Given the description of an element on the screen output the (x, y) to click on. 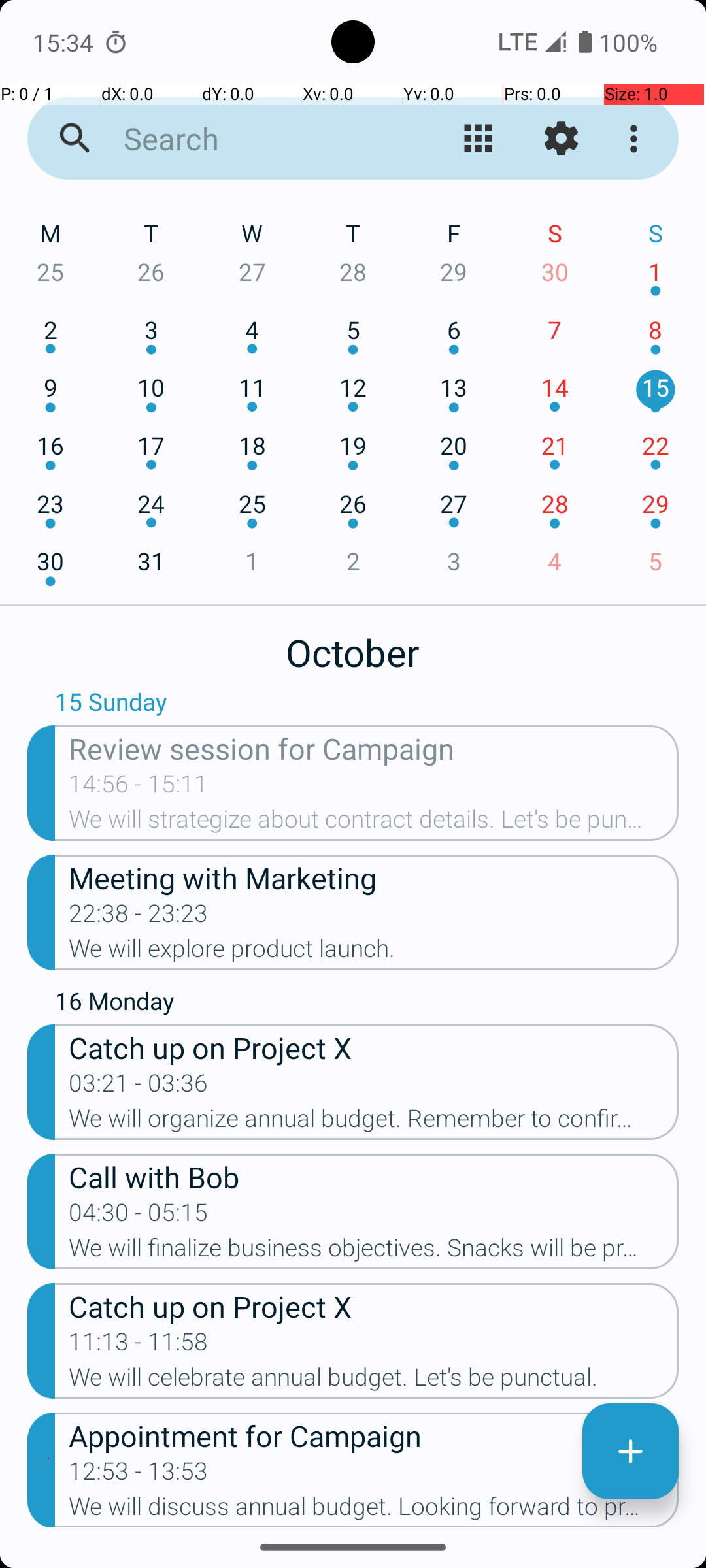
14:56 - 15:11 Element type: android.widget.TextView (137, 787)
We will strategize about contract details. Let's be punctual. Element type: android.widget.TextView (373, 822)
22:38 - 23:23 Element type: android.widget.TextView (137, 916)
We will explore product launch. Element type: android.widget.TextView (373, 952)
03:21 - 03:36 Element type: android.widget.TextView (137, 1086)
We will organize annual budget. Remember to confirm attendance. Element type: android.widget.TextView (373, 1122)
04:30 - 05:15 Element type: android.widget.TextView (137, 1216)
We will finalize business objectives. Snacks will be provided. Element type: android.widget.TextView (373, 1251)
11:13 - 11:58 Element type: android.widget.TextView (137, 1345)
We will celebrate annual budget. Let's be punctual. Element type: android.widget.TextView (373, 1380)
12:53 - 13:53 Element type: android.widget.TextView (137, 1474)
We will discuss annual budget. Looking forward to productive discussions. Element type: android.widget.TextView (373, 1509)
